Given the description of an element on the screen output the (x, y) to click on. 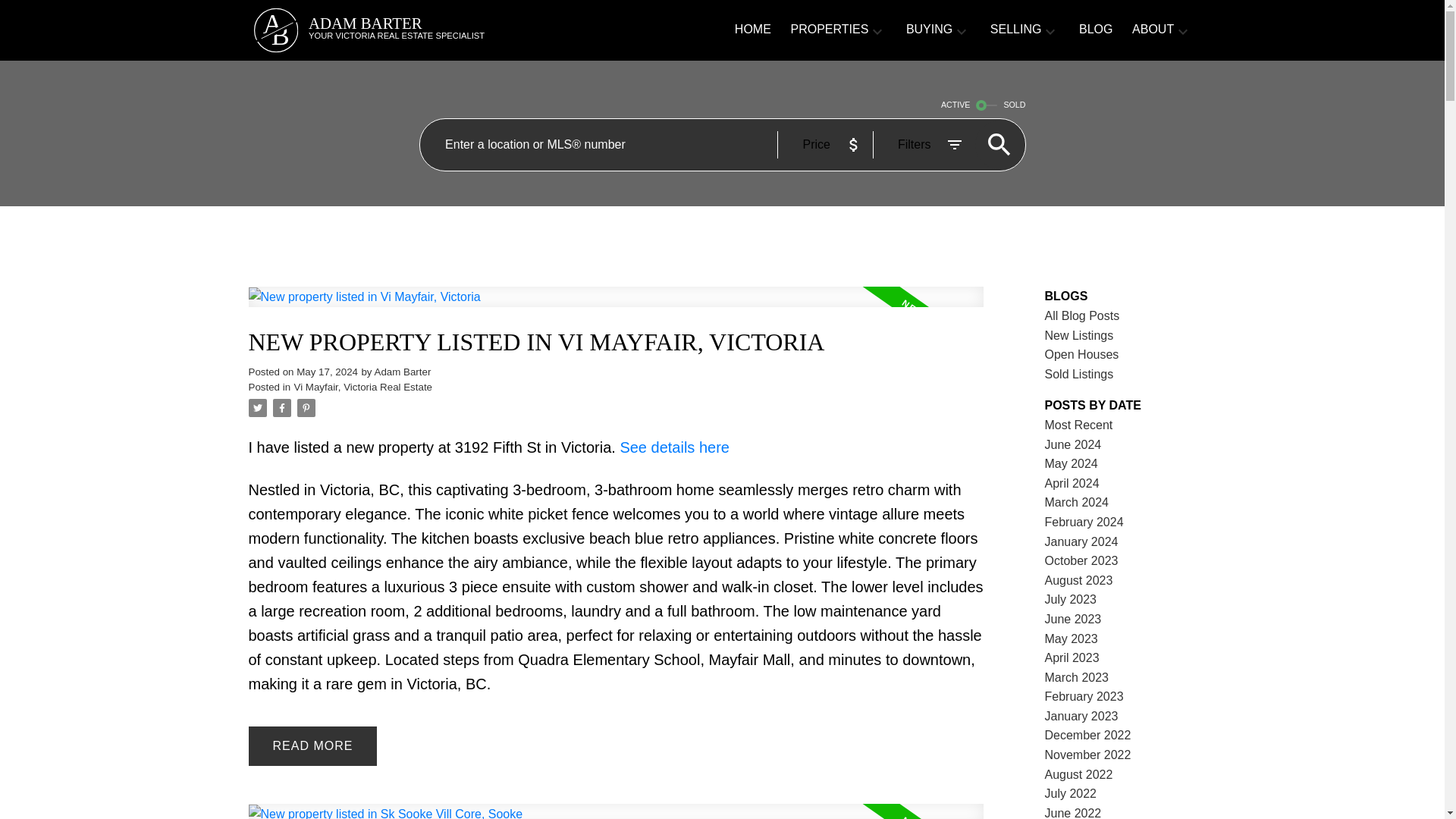
PROPERTIES (828, 30)
BUYING (429, 30)
See details here (928, 30)
ABOUT (674, 446)
NEW PROPERTY LISTED IN VI MAYFAIR, VICTORIA (1152, 30)
Vi Mayfair, Victoria Real Estate (616, 342)
Read full post (363, 387)
Read full post (616, 811)
HOME (616, 305)
